Given the description of an element on the screen output the (x, y) to click on. 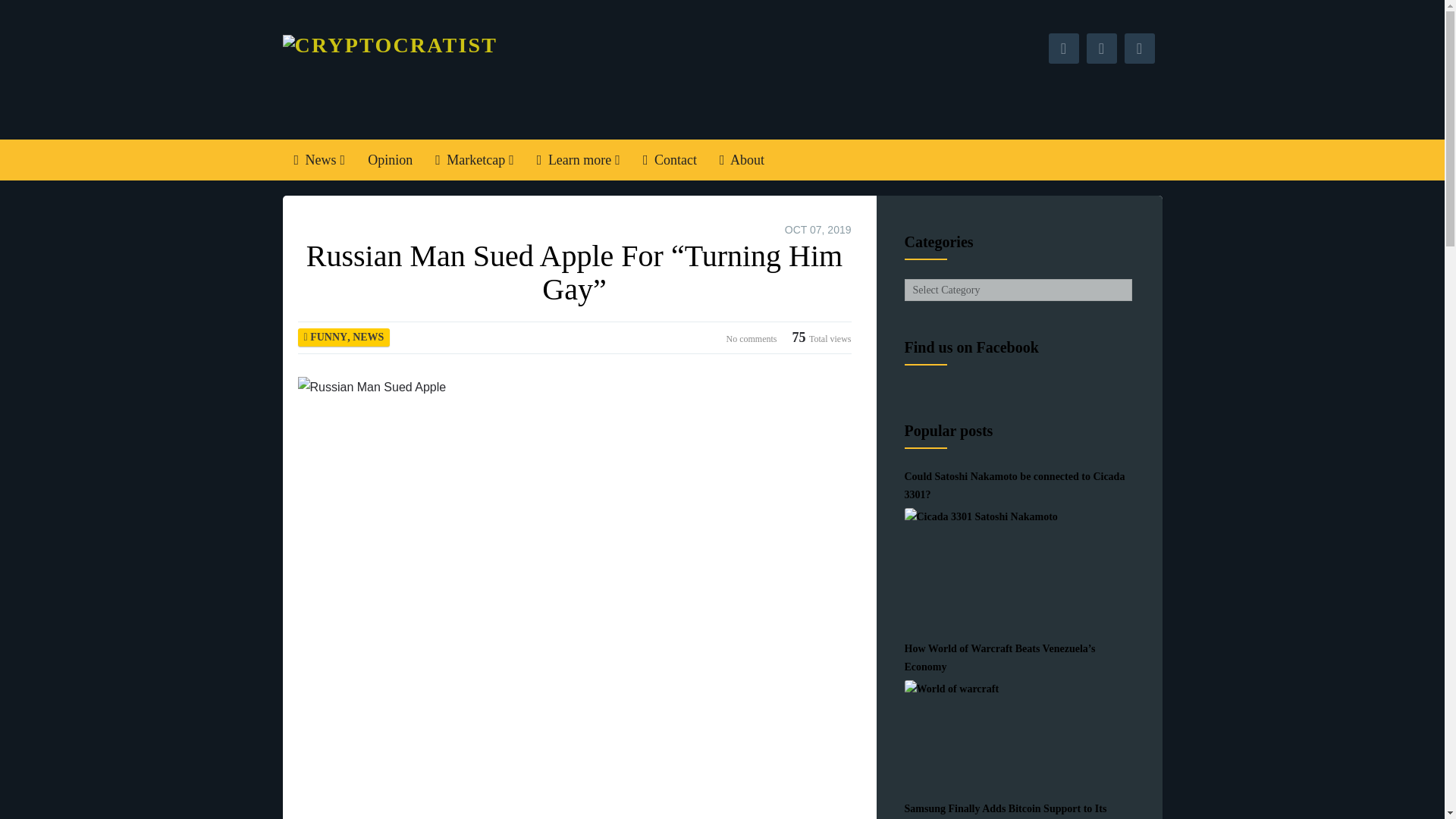
Learn more (578, 159)
News (319, 159)
Contact (669, 159)
Marketcap (474, 159)
Views (821, 337)
NEWS (368, 337)
what is (578, 159)
No comments (751, 337)
About (741, 159)
View all posts in Funny (328, 337)
Opinion (389, 159)
FUNNY (328, 337)
View all posts in News (368, 337)
